Given the description of an element on the screen output the (x, y) to click on. 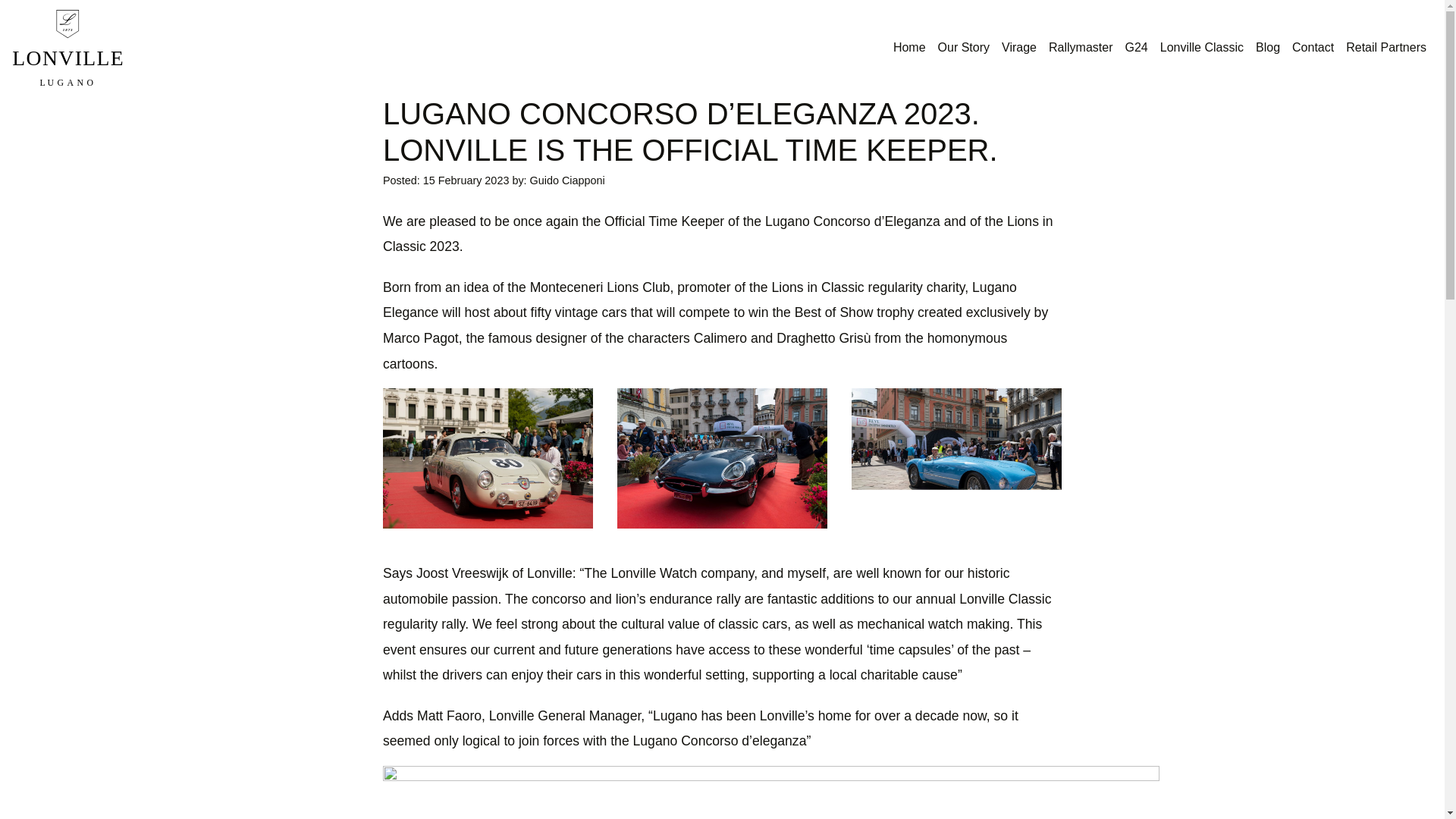
Our Story (963, 47)
Home (908, 47)
Retail Partners (1385, 47)
Lonville Classic (1201, 47)
G24 (1135, 47)
Retail Partners (1385, 47)
Rallymaster (1080, 47)
Blog (1267, 47)
Virage (1018, 47)
Rallymaster (1080, 47)
Virage (1018, 47)
Our Story (963, 47)
Blog (1267, 47)
Lonville Classic (1201, 47)
Home (908, 47)
